Given the description of an element on the screen output the (x, y) to click on. 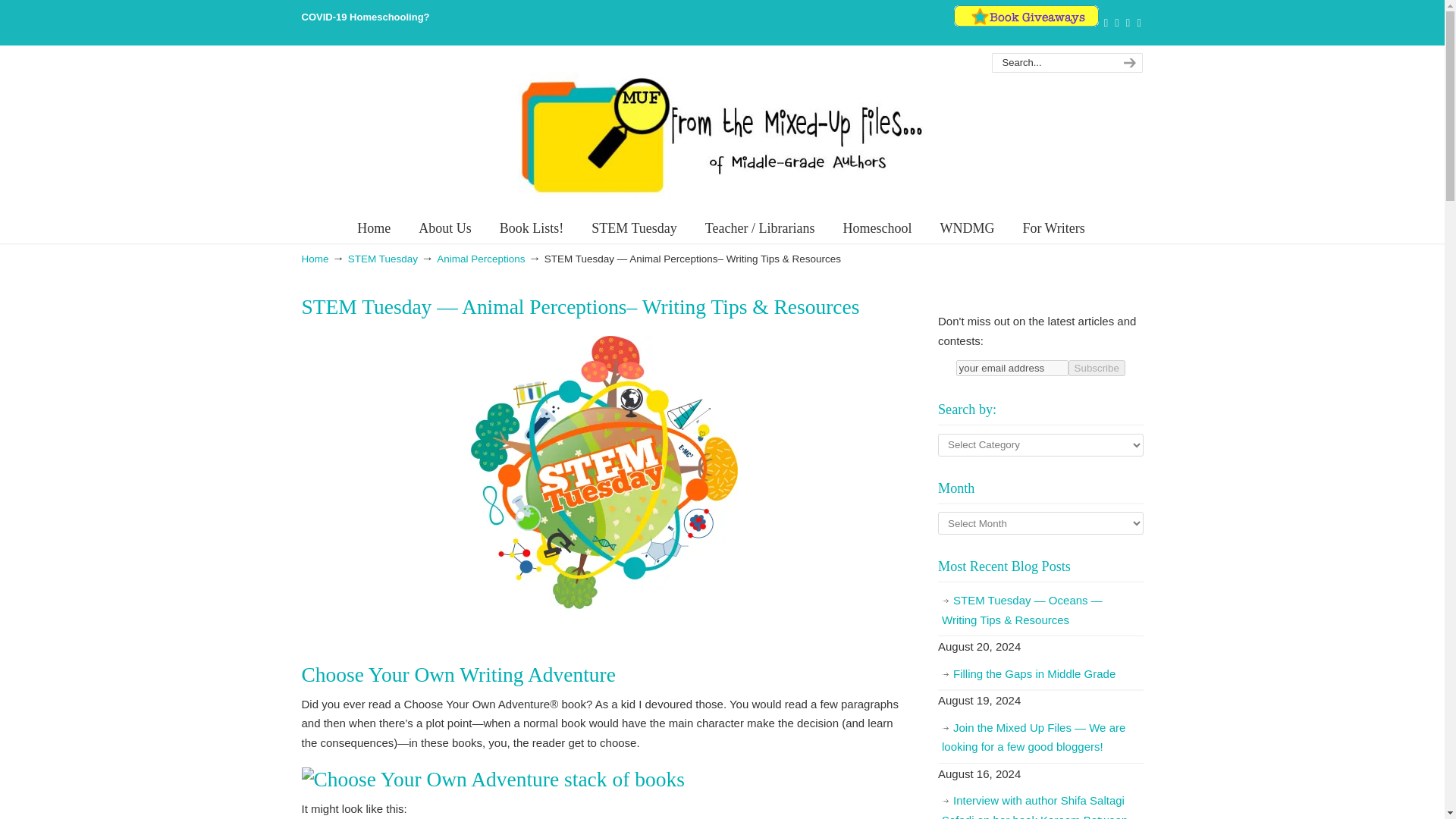
your email address (1012, 367)
Book Lists! (531, 228)
search (1126, 62)
Home (374, 228)
COVID-19 Homeschooling? (365, 16)
From The Mixed Up Files (721, 134)
About Us (444, 228)
From The Mixed Up Files (721, 134)
STEM Tuesday (634, 228)
Subscribe (1096, 367)
